Given the description of an element on the screen output the (x, y) to click on. 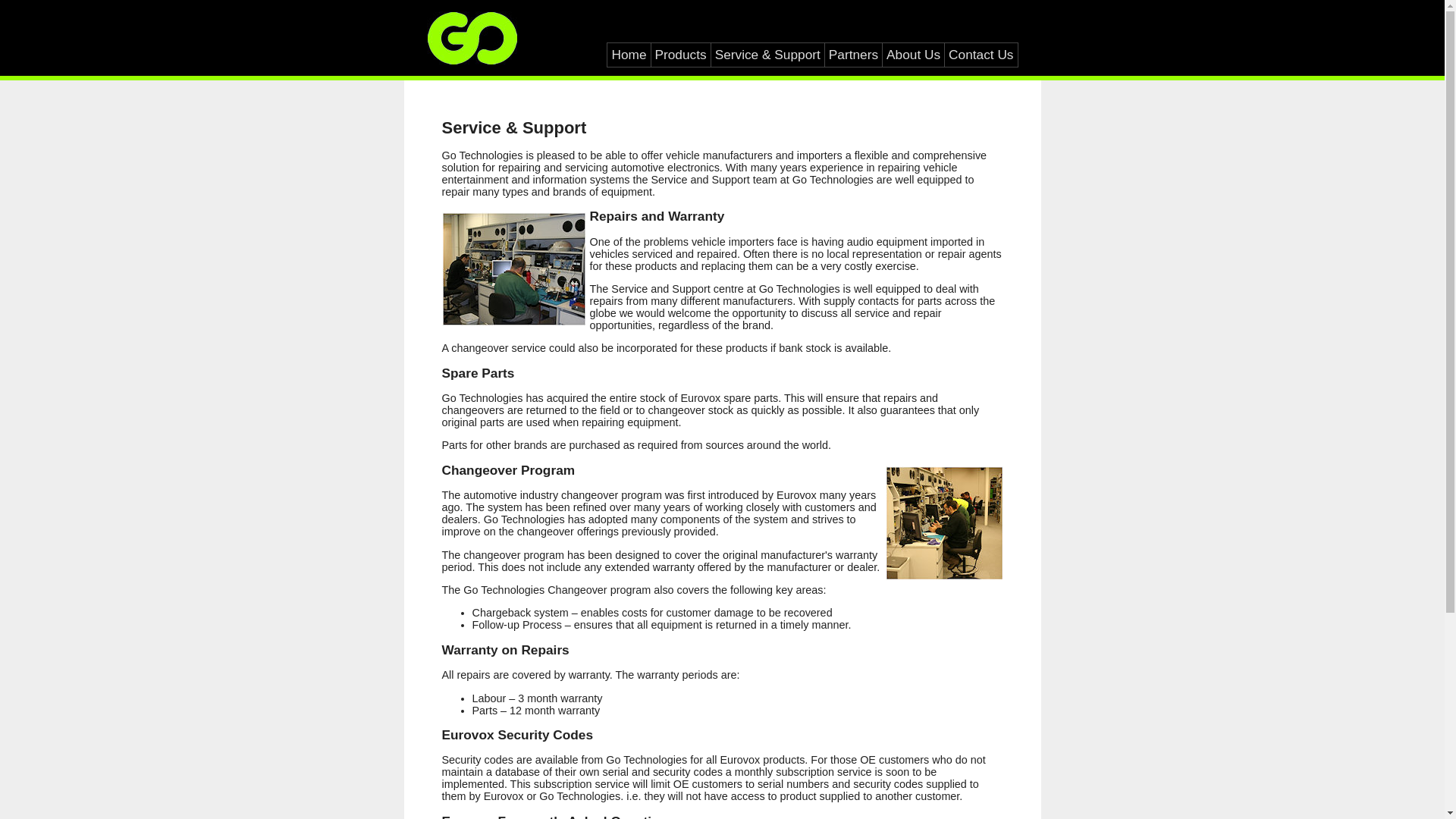
Service & Support Element type: text (767, 54)
Home Element type: text (628, 54)
Partners Element type: text (853, 54)
About Us Element type: text (912, 54)
Contact Us Element type: text (980, 54)
Products Element type: text (680, 54)
